Given the description of an element on the screen output the (x, y) to click on. 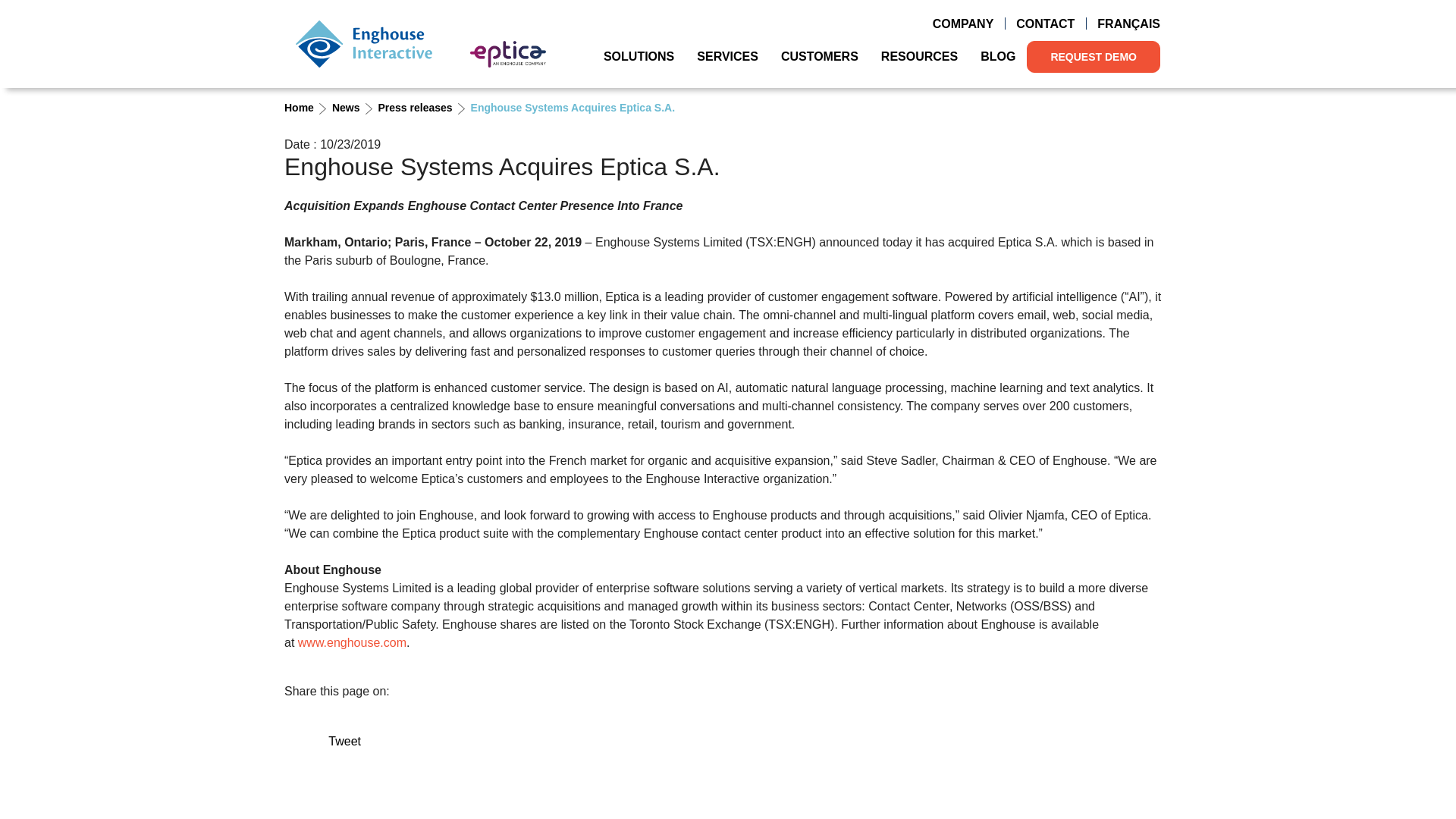
Home (363, 43)
SERVICES (727, 56)
RESOURCES (919, 56)
CONTACT (1045, 24)
CUSTOMERS (819, 56)
COMPANY (963, 24)
SOLUTIONS (639, 56)
